Given the description of an element on the screen output the (x, y) to click on. 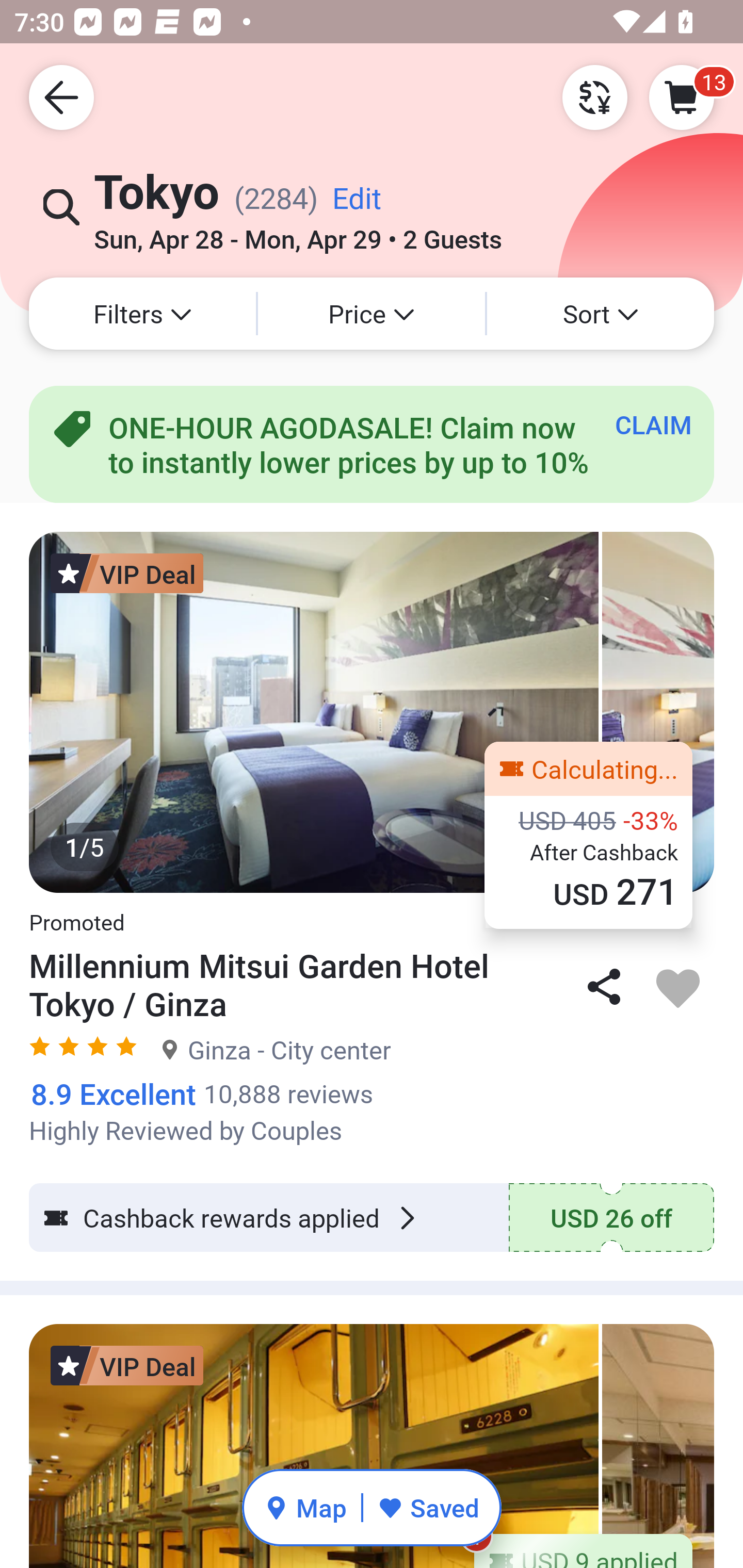
Filters (141, 313)
Price (371, 313)
Sort (600, 313)
CLAIM (653, 424)
VIP Deal (126, 572)
1/5 (371, 711)
Promoted (76, 911)
Cashback rewards applied USD 26 off (371, 1217)
VIP Deal (126, 1365)
Map (305, 1507)
Saved (428, 1507)
USD 9 applied (583, 1550)
